Given the description of an element on the screen output the (x, y) to click on. 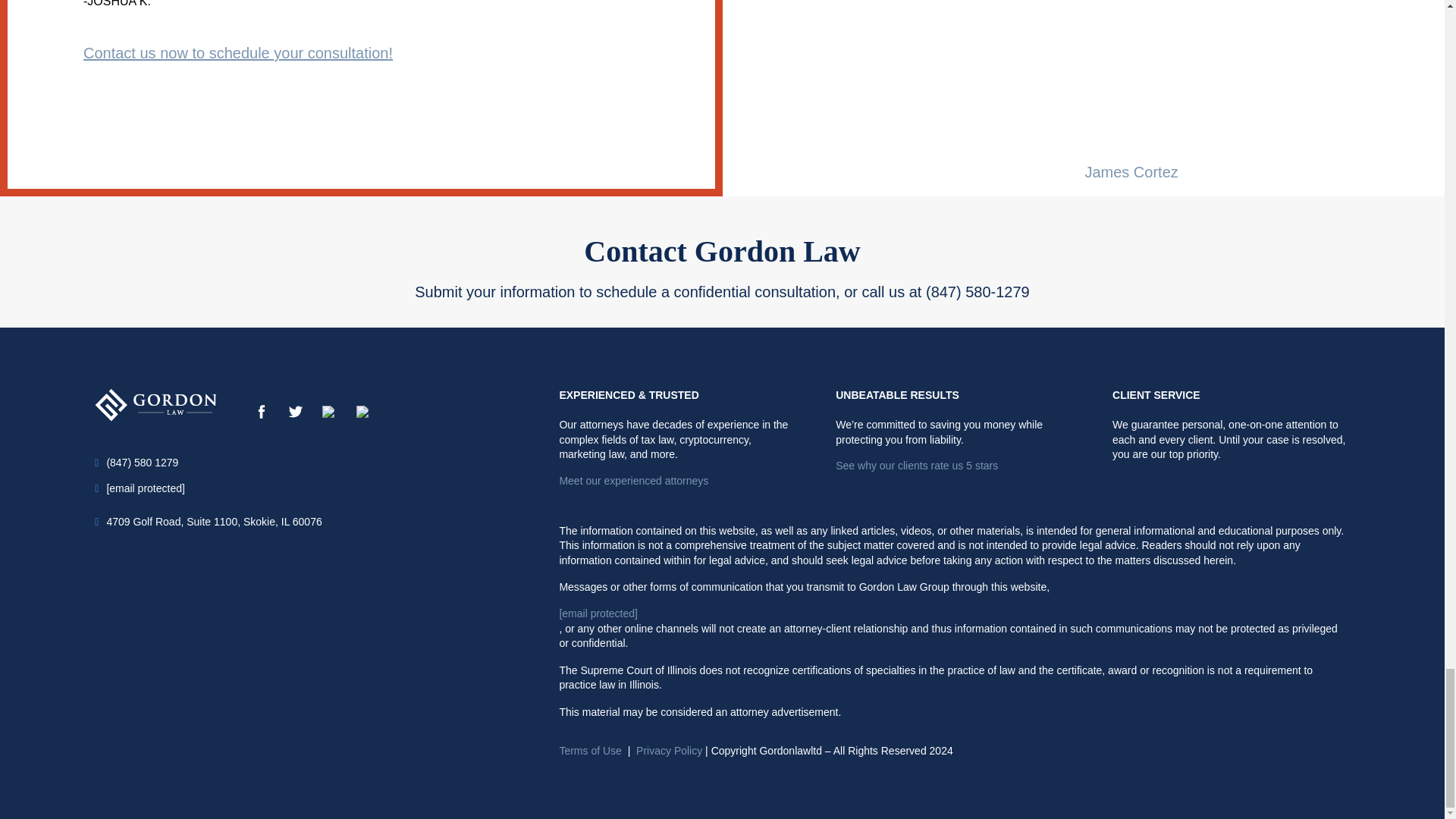
See why our clients rate us 5 stars (954, 466)
Meet our experienced attorneys (677, 481)
Gordon Law Group (154, 402)
